Given the description of an element on the screen output the (x, y) to click on. 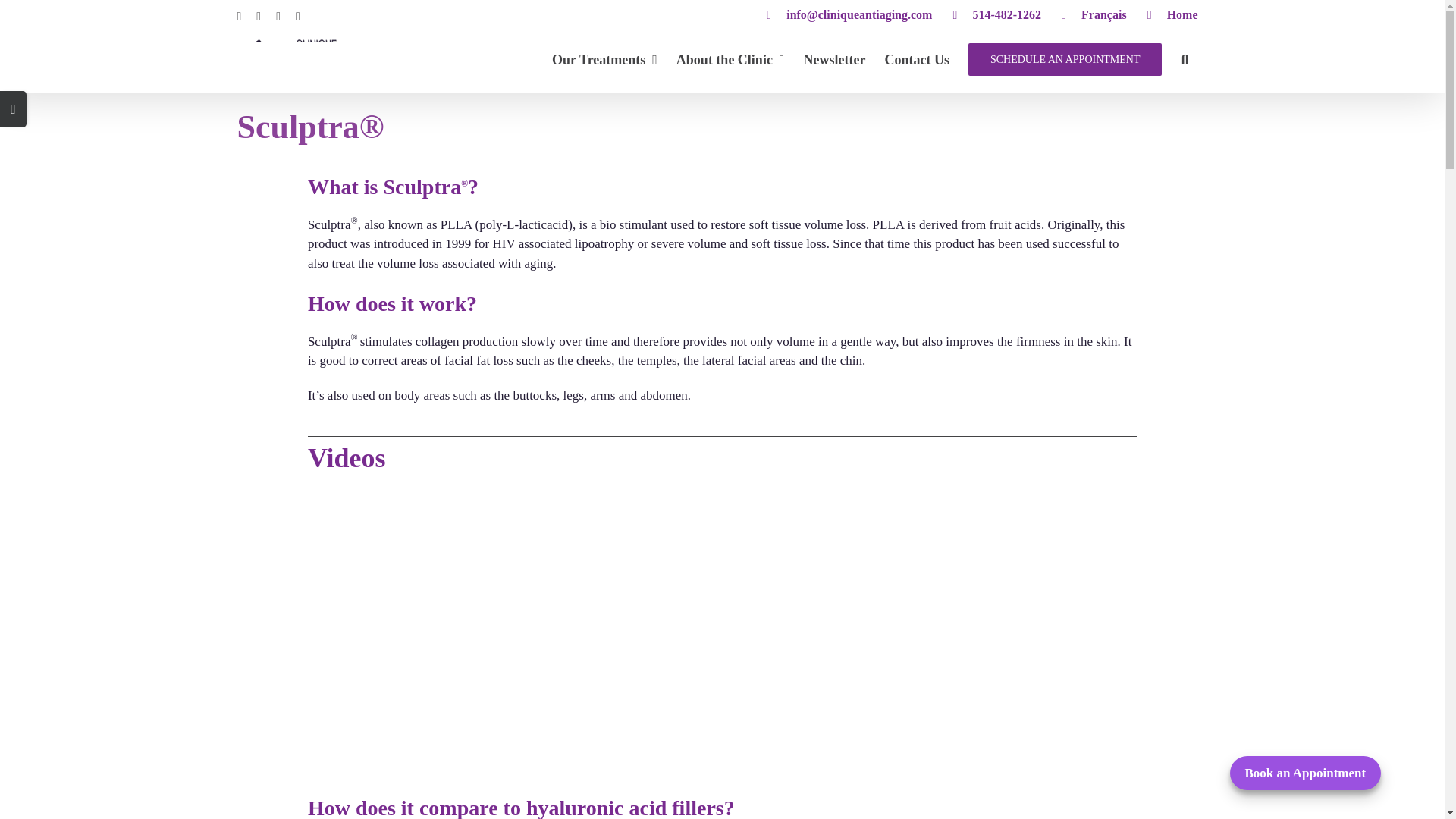
Contact Us (916, 59)
SCHEDULE AN APPOINTMENT (1064, 59)
Our Treatments (604, 59)
514-482-1262 (996, 15)
YouTube video player 1 (534, 775)
About the Clinic (730, 59)
Home (1172, 15)
Newsletter (833, 59)
